Given the description of an element on the screen output the (x, y) to click on. 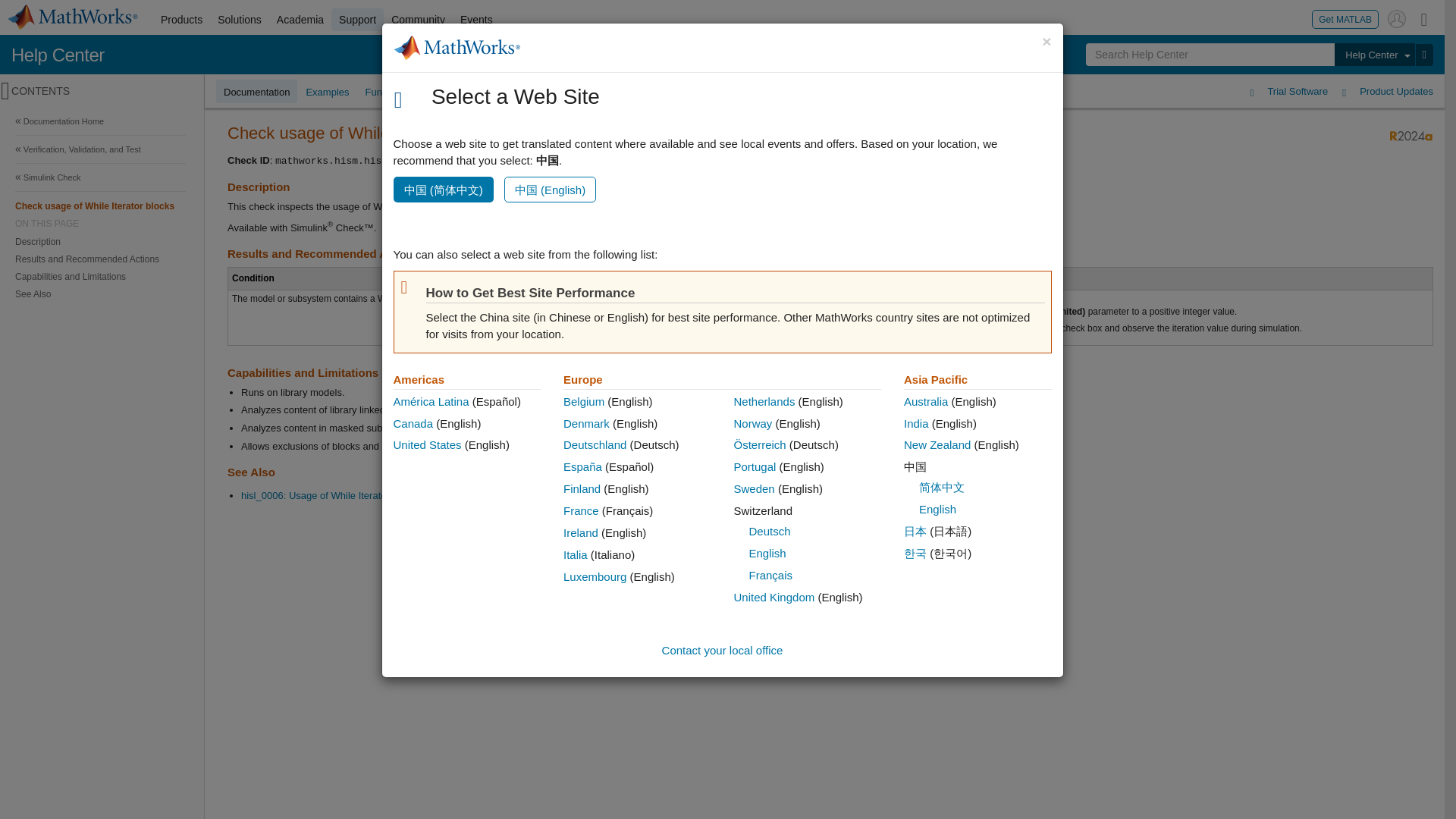
Events (476, 19)
Academia (300, 19)
Matrix Menu (1423, 18)
Get MATLAB (1344, 18)
Sign In to Your MathWorks Account (1396, 18)
ON THIS PAGE (100, 223)
Products (180, 19)
Support (357, 19)
Community (418, 19)
Solutions (239, 19)
Check usage of While Iterator blocks (100, 205)
